Given the description of an element on the screen output the (x, y) to click on. 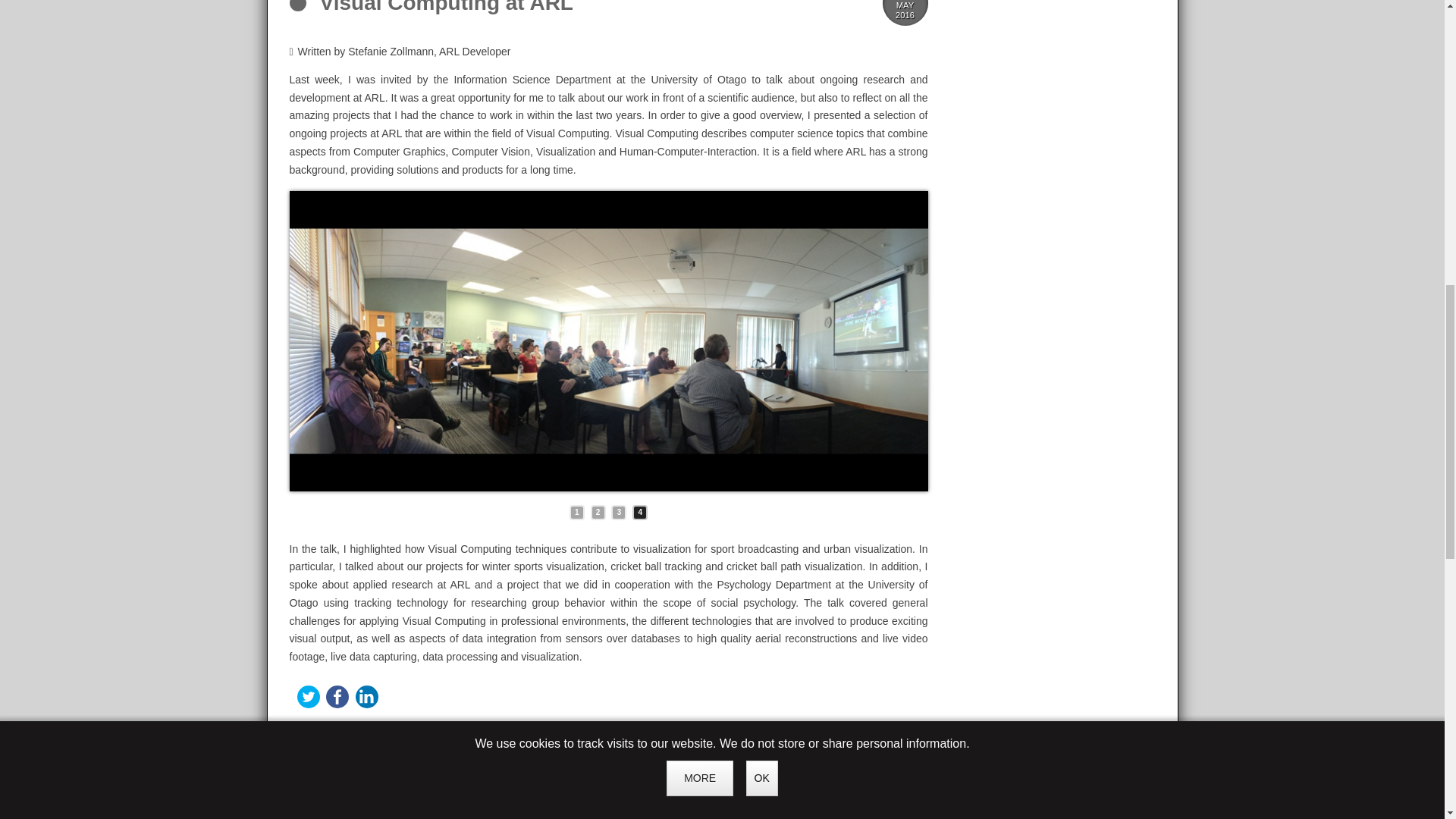
Twitter (308, 696)
FaceBook (337, 696)
LinkedIn (366, 696)
